Given the description of an element on the screen output the (x, y) to click on. 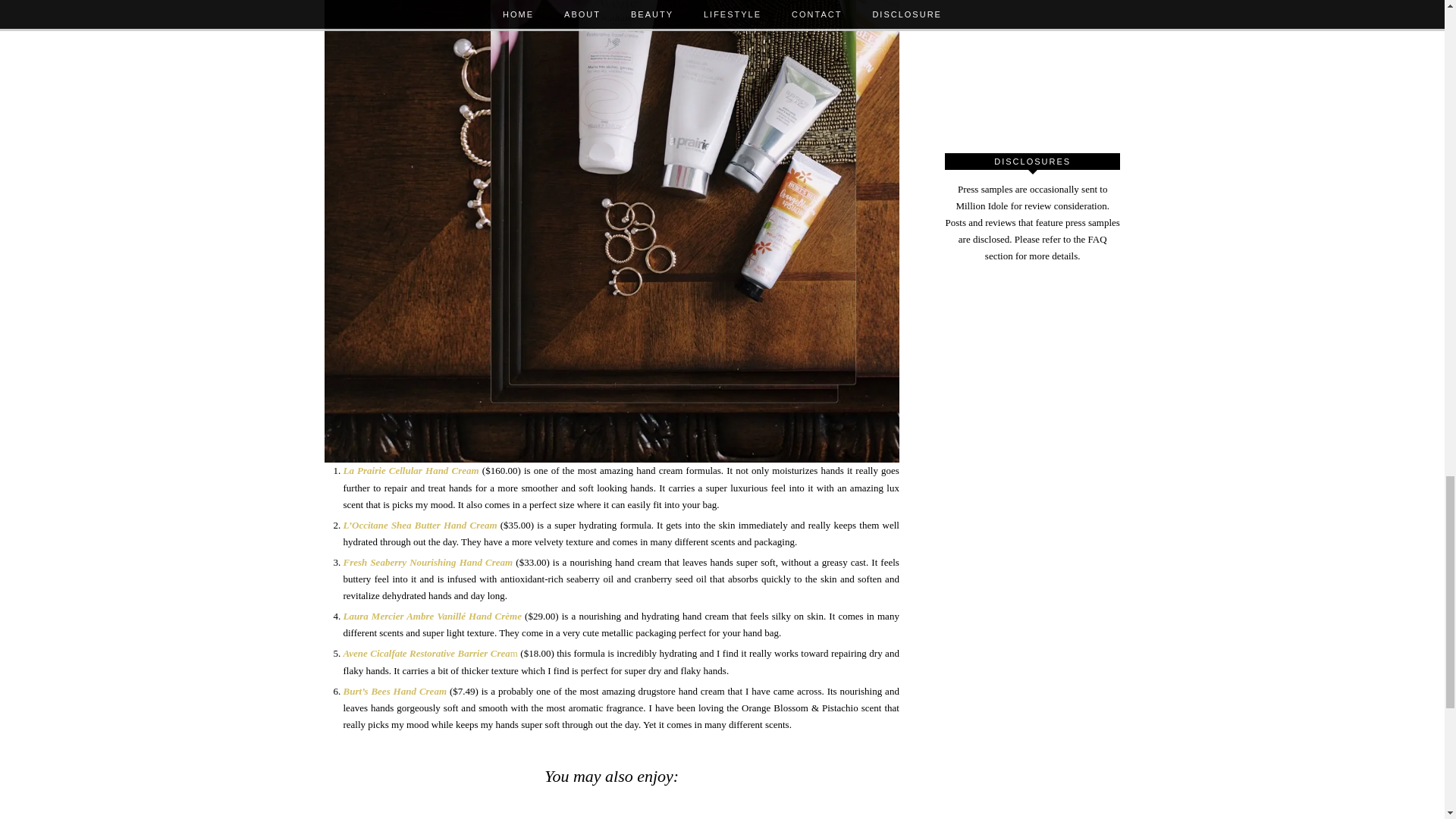
Avene Cicalfate Restorative Barrier Cream (429, 653)
Fresh Seaberry Nourishing Hand Cream (427, 562)
La Prairie Cellular Hand Cream (410, 470)
